Given the description of an element on the screen output the (x, y) to click on. 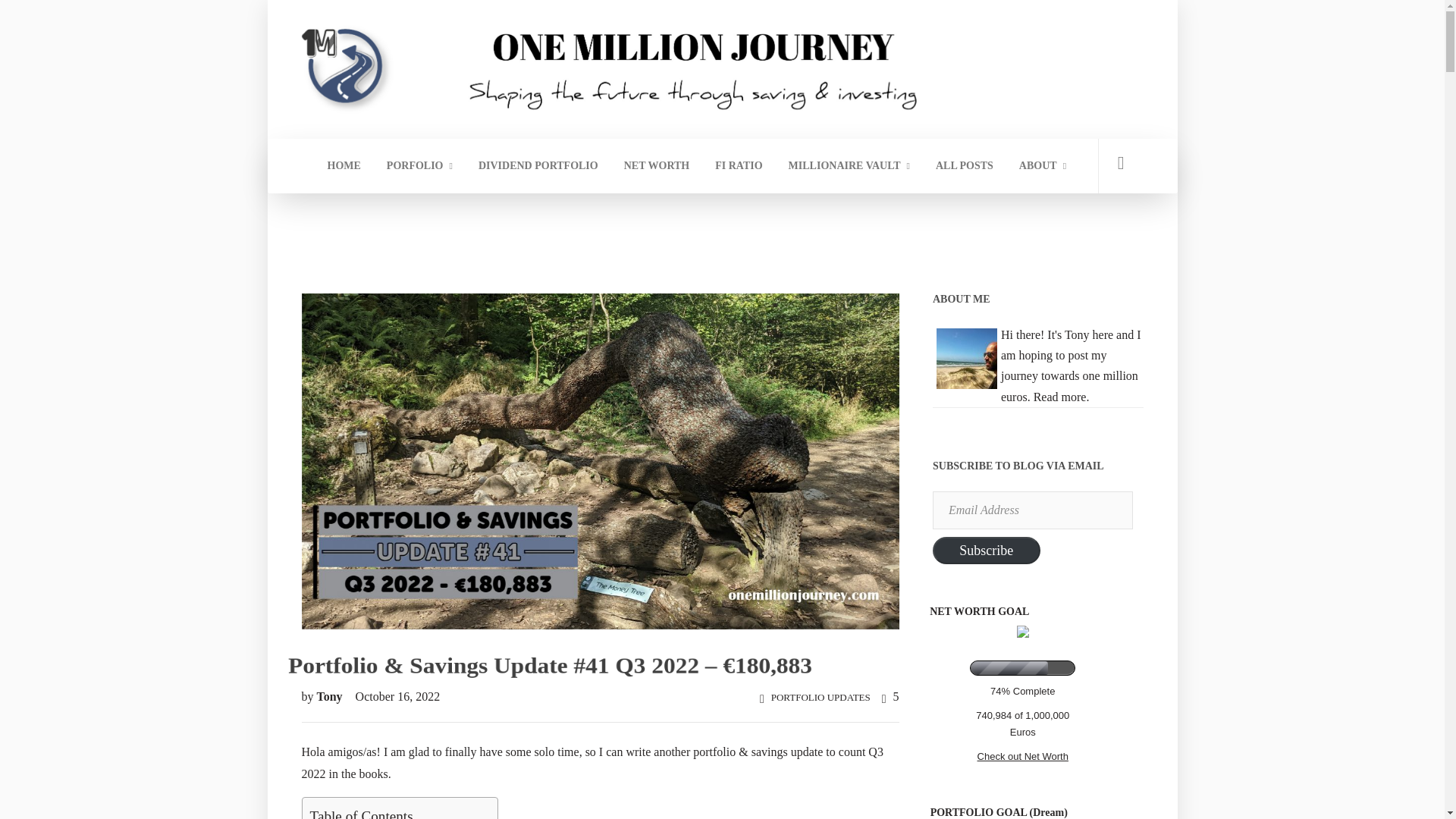
PORFOLIO (419, 165)
DIVIDEND PORTFOLIO (538, 165)
MILLIONAIRE VAULT (849, 165)
NET WORTH (657, 165)
